Given the description of an element on the screen output the (x, y) to click on. 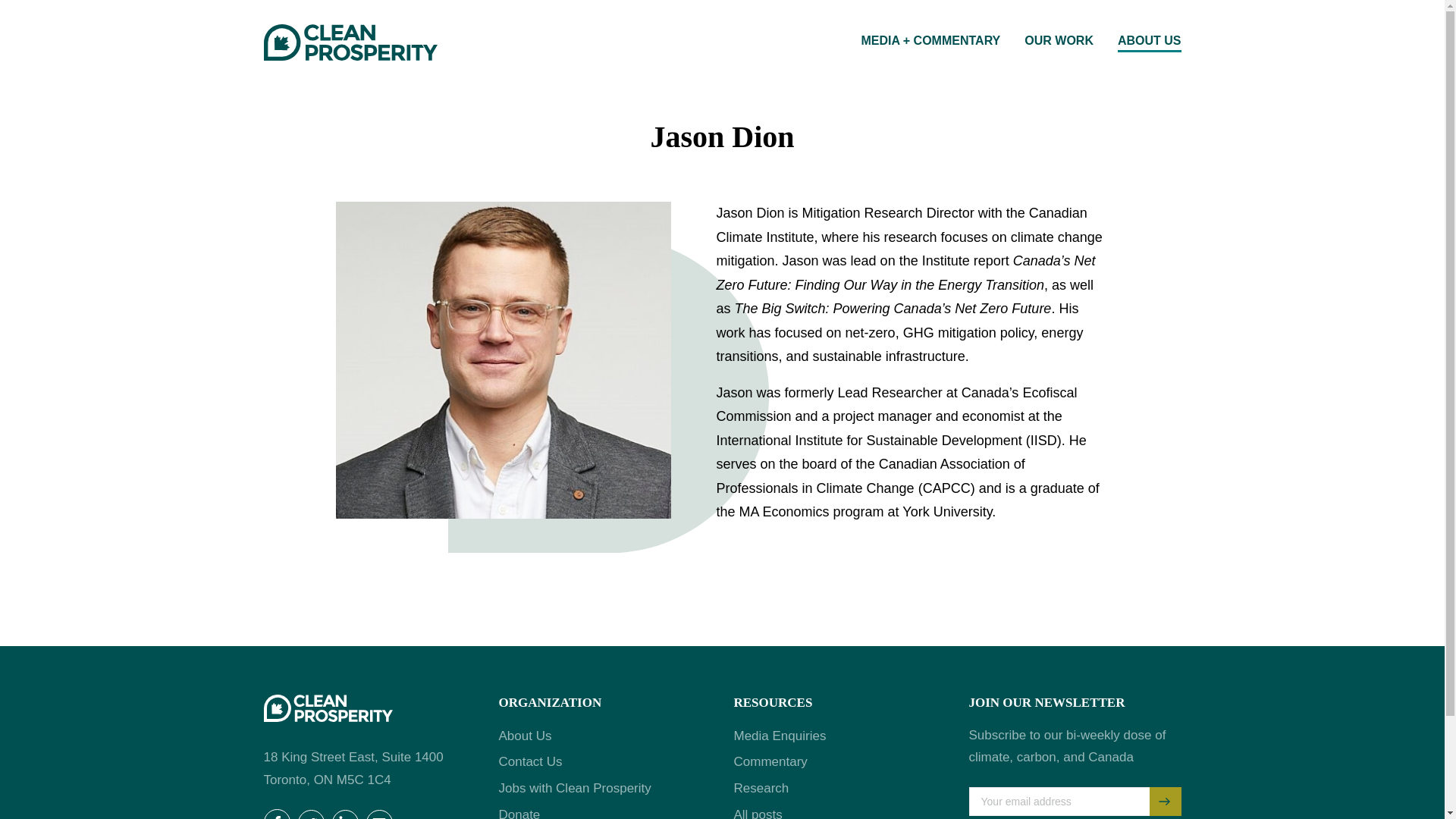
Research (761, 788)
Commentary (770, 761)
All posts (758, 813)
Media Enquiries (780, 735)
SUBSCRIBE (1165, 801)
About Us (525, 735)
Contact Us (530, 761)
ABOUT US (1142, 40)
Jobs with Clean Prosperity (574, 788)
Donate (519, 813)
